Given the description of an element on the screen output the (x, y) to click on. 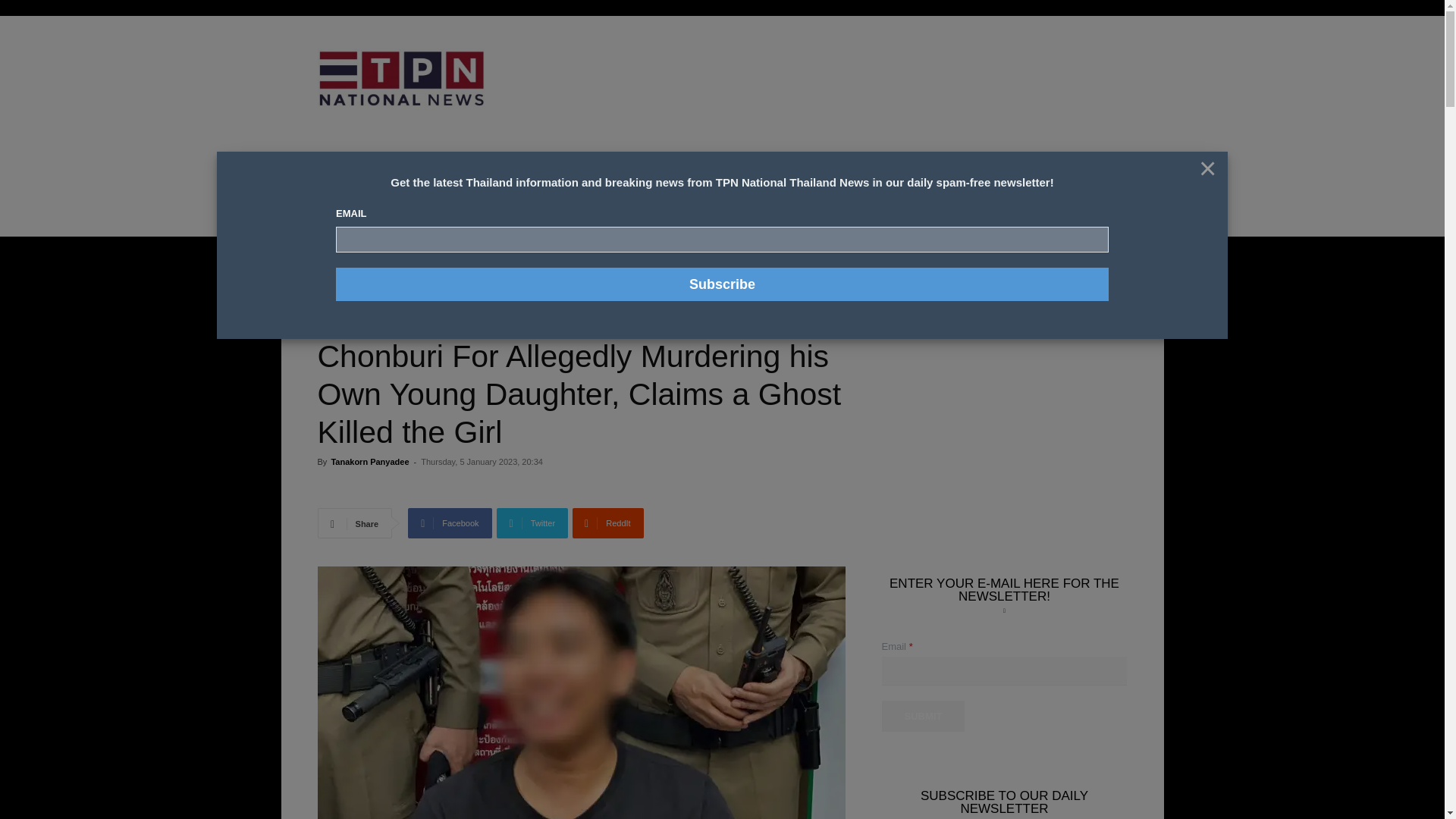
Home (328, 259)
The Pattaya News National, Thailand News (400, 78)
SPORTS (472, 181)
BUSINESS (529, 181)
Subscribe (722, 284)
Chonburi (450, 259)
Chonburi (401, 281)
LIFE (577, 181)
NATIONAL (370, 181)
POLITICS (624, 181)
Regional News (386, 259)
Local News (503, 281)
The Pattaya News National, Thailand News (425, 78)
Business Directory (1017, 182)
Regional News (347, 281)
